Given the description of an element on the screen output the (x, y) to click on. 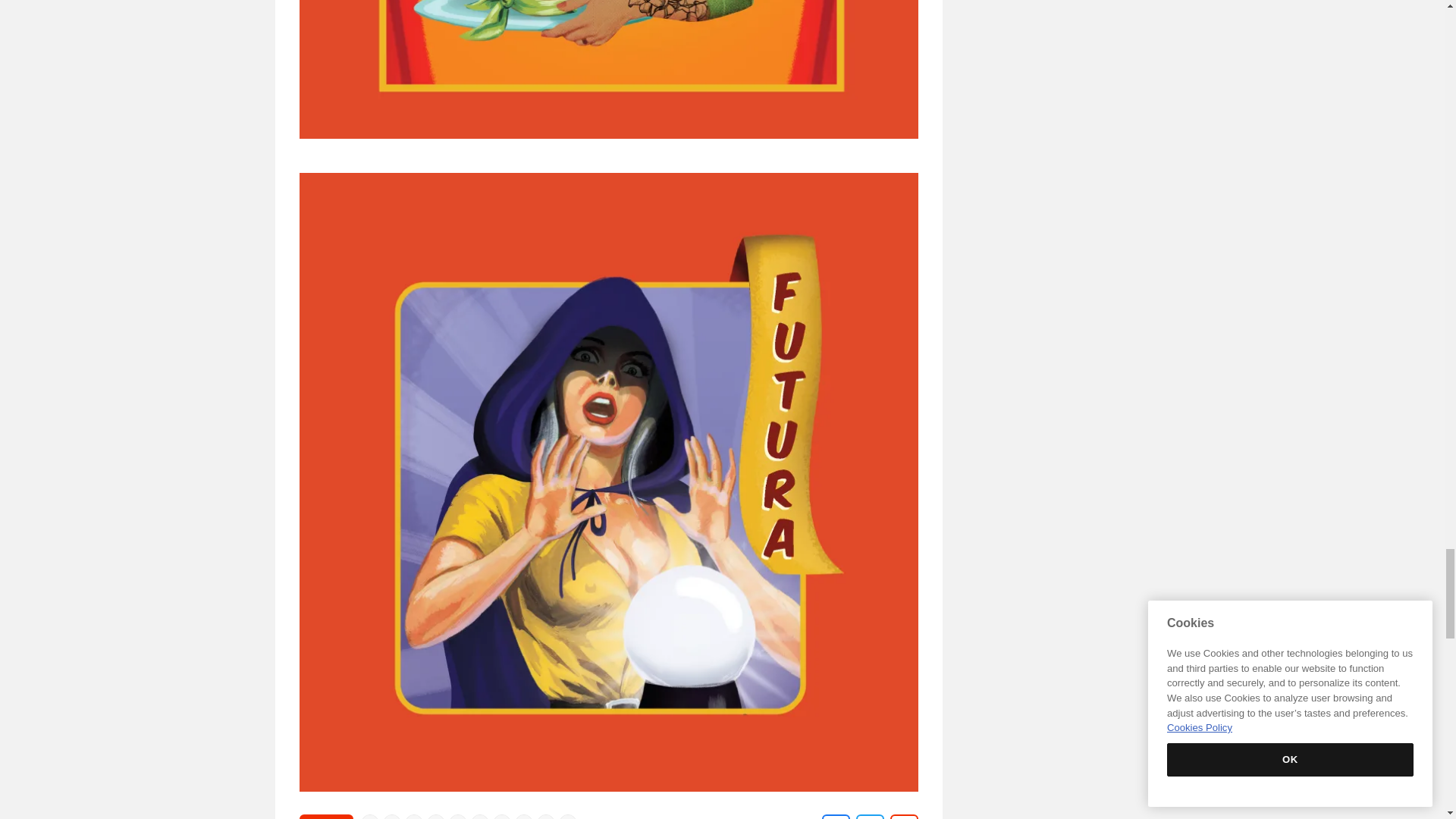
Erick Robert Asprilla Flores (392, 816)
Sol Charlotte (414, 816)
Lorena Cereijo (369, 816)
Ariel Fajardo (457, 816)
Emily Corrales (567, 816)
Alberto Padierna Quintana (545, 816)
Gabriela Granucci Chen (436, 816)
Nadia Beltran de Lubiano (479, 816)
Alexander Pulido meralla (523, 816)
